Given the description of an element on the screen output the (x, y) to click on. 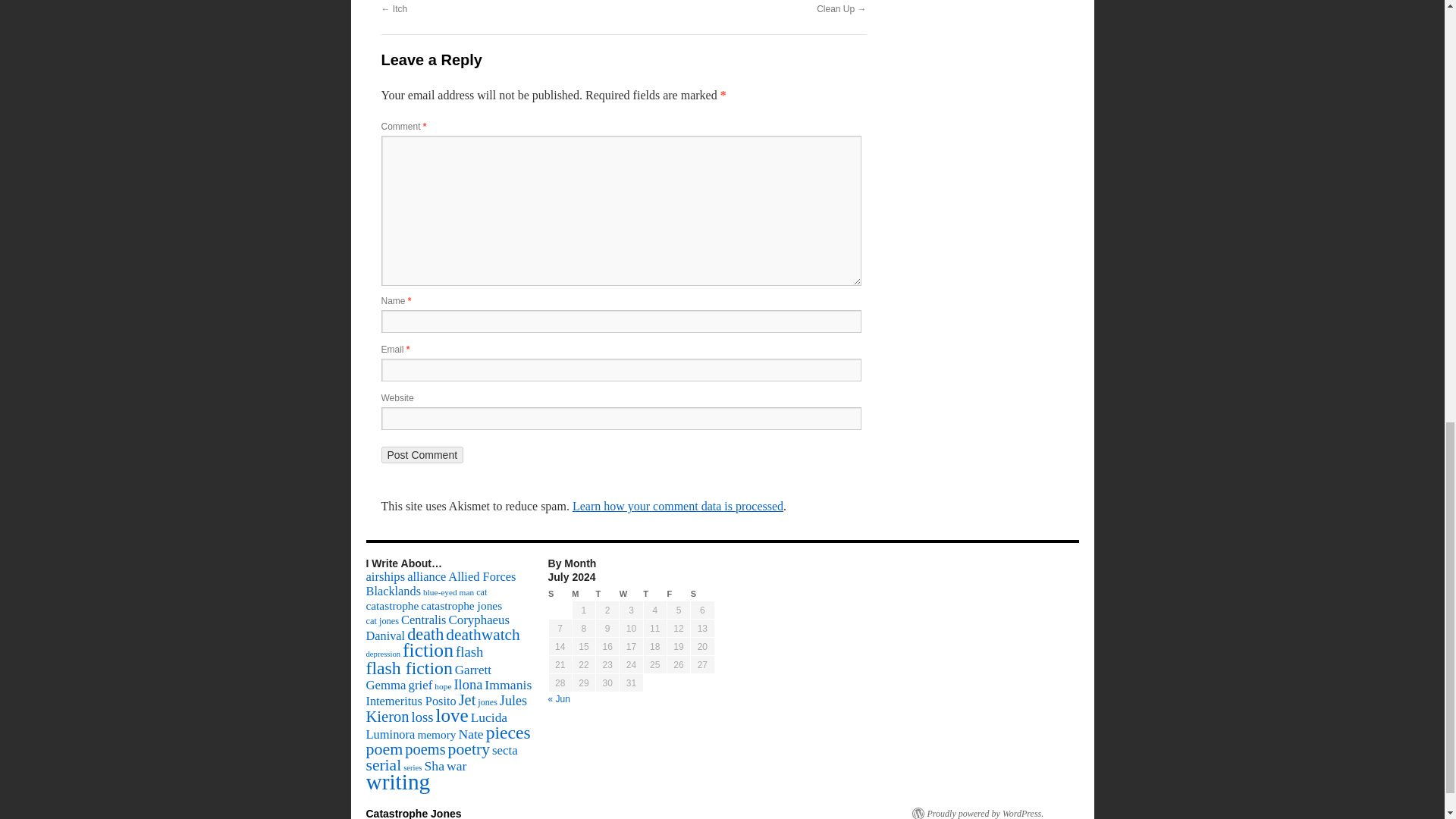
Sunday (560, 594)
Monday (583, 594)
Post Comment (421, 454)
Learn how your comment data is processed (677, 505)
Post Comment (421, 454)
